Given the description of an element on the screen output the (x, y) to click on. 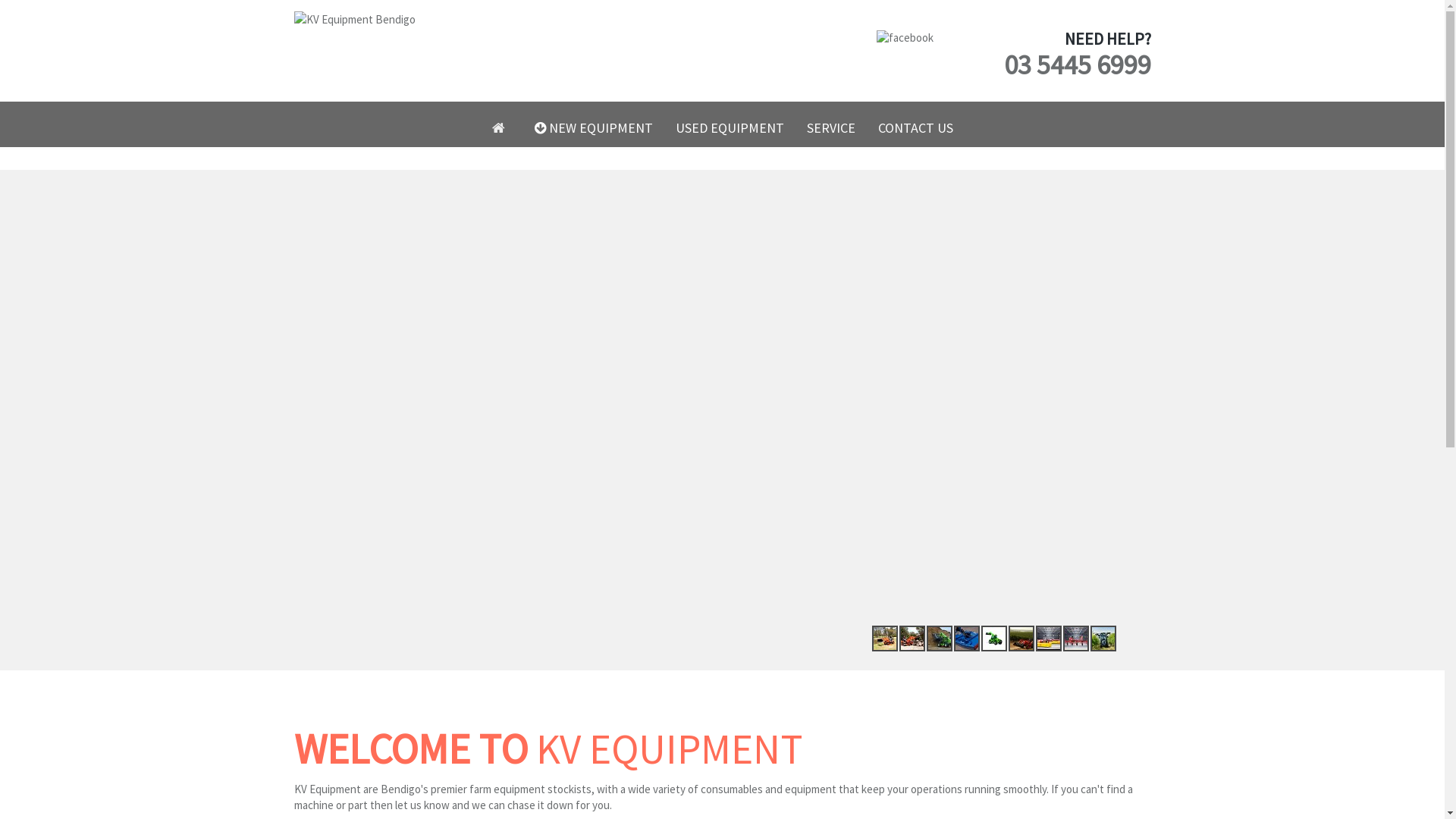
CONTACT US Element type: text (914, 128)
03 5445 6999 Element type: text (1077, 64)
SERVICE Element type: text (830, 128)
NEW EQUIPMENT Element type: text (593, 128)
USED EQUIPMENT Element type: text (729, 128)
